Given the description of an element on the screen output the (x, y) to click on. 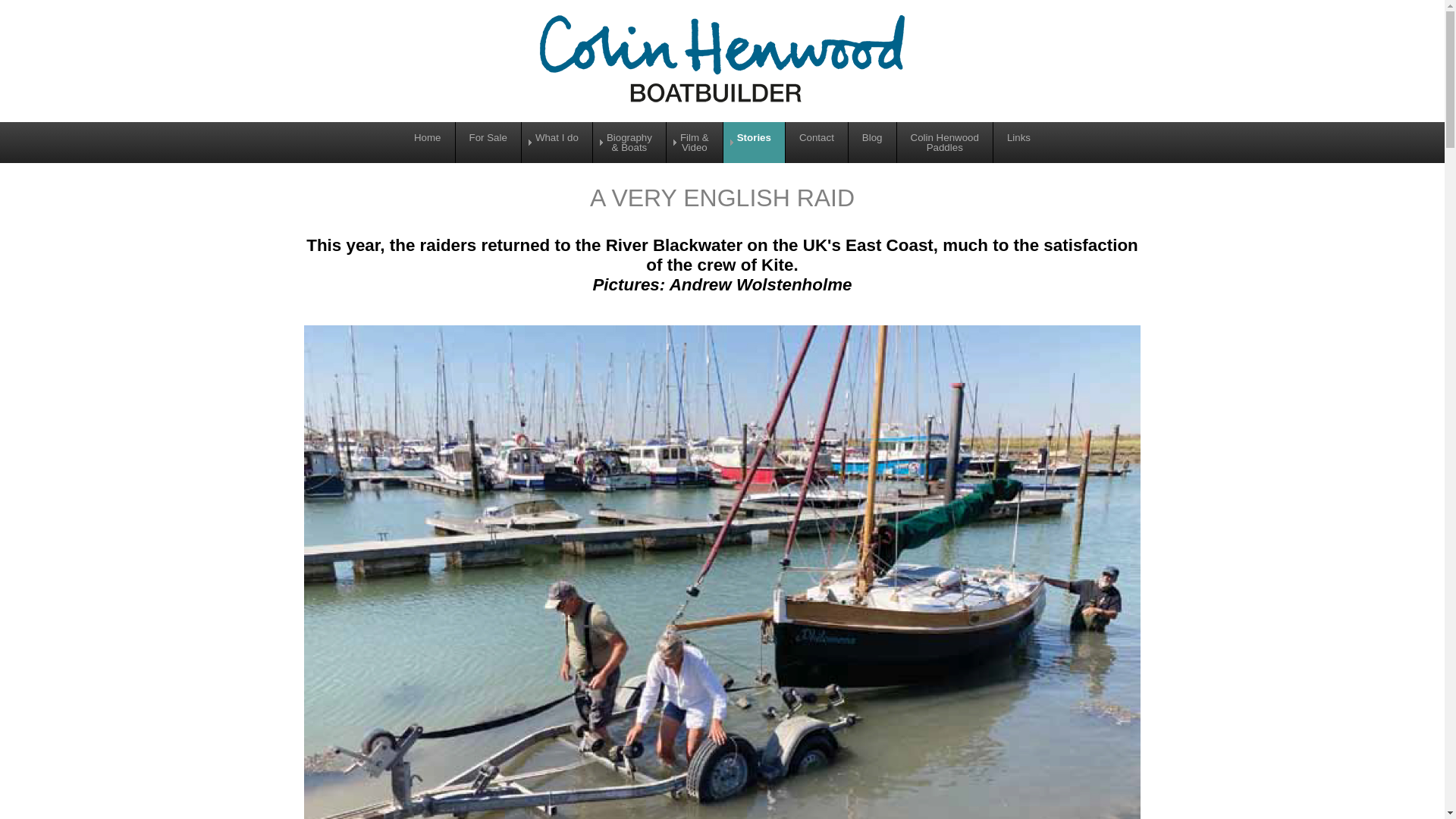
Links (1017, 141)
Stories (753, 141)
For Sale (487, 141)
Contact (815, 141)
Home (427, 141)
Blog (944, 141)
What I do (871, 141)
